Given the description of an element on the screen output the (x, y) to click on. 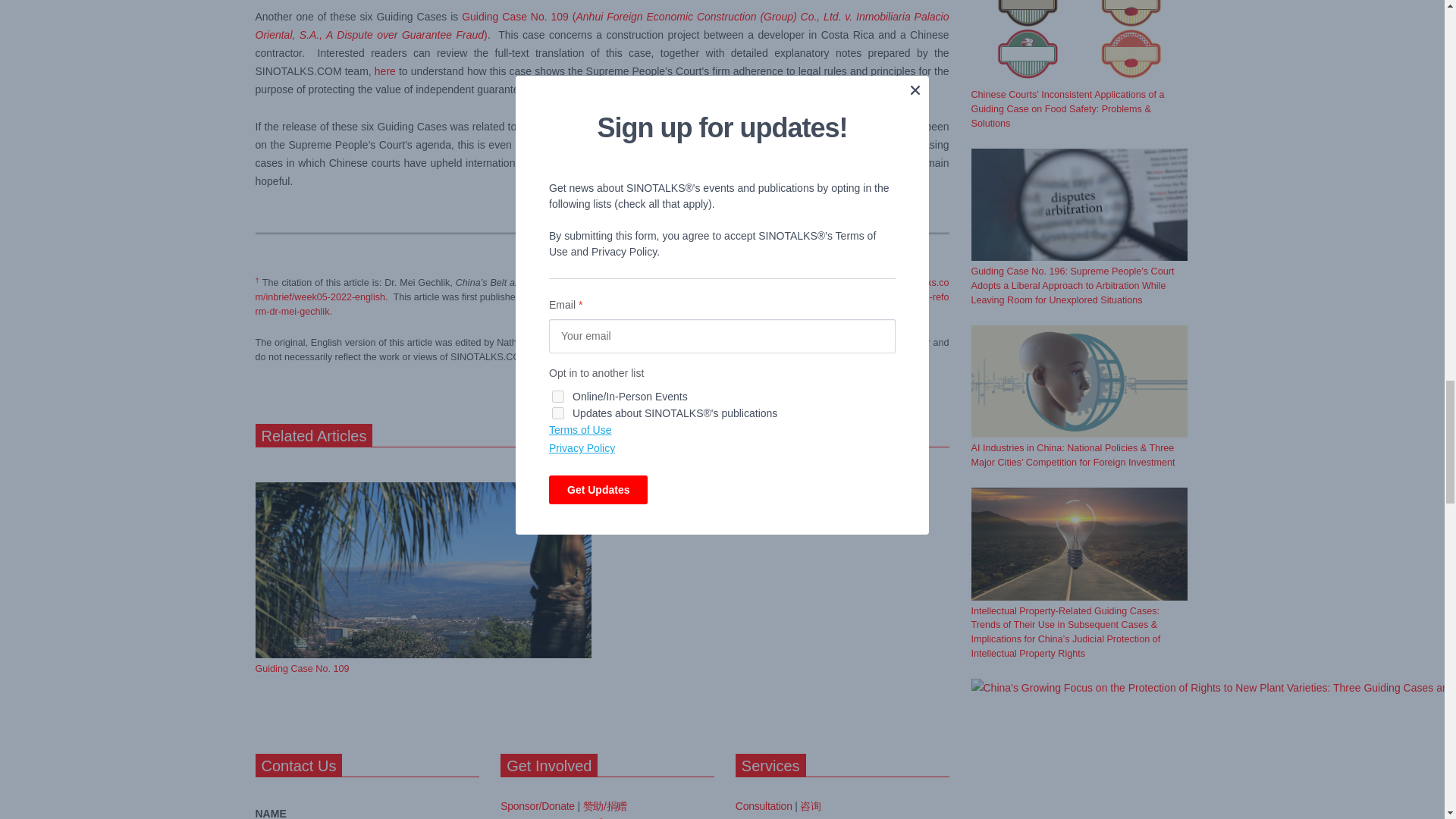
here (385, 70)
